Given the description of an element on the screen output the (x, y) to click on. 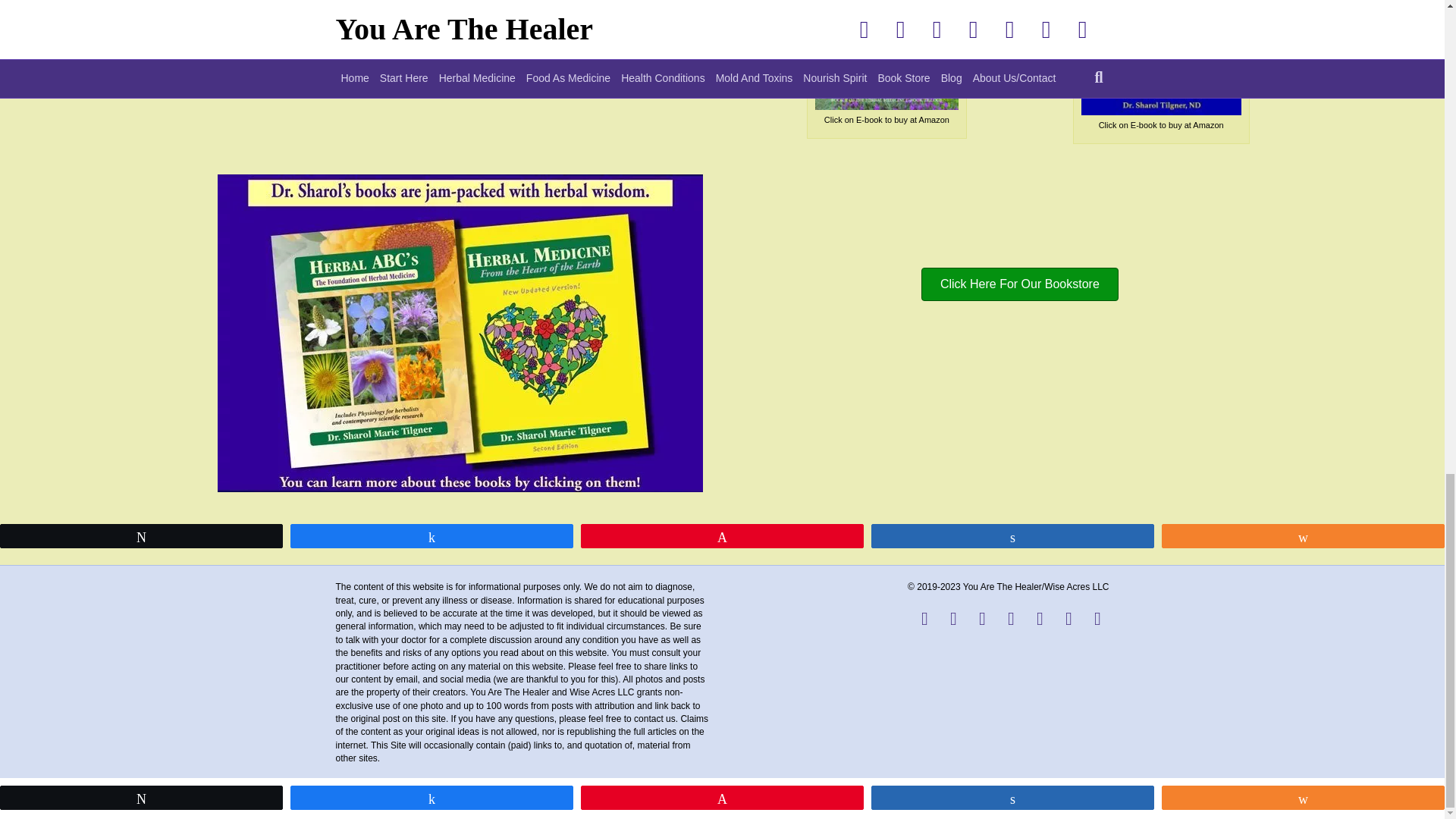
PayPal - The safer, easier way to pay online! (85, 12)
